Given the description of an element on the screen output the (x, y) to click on. 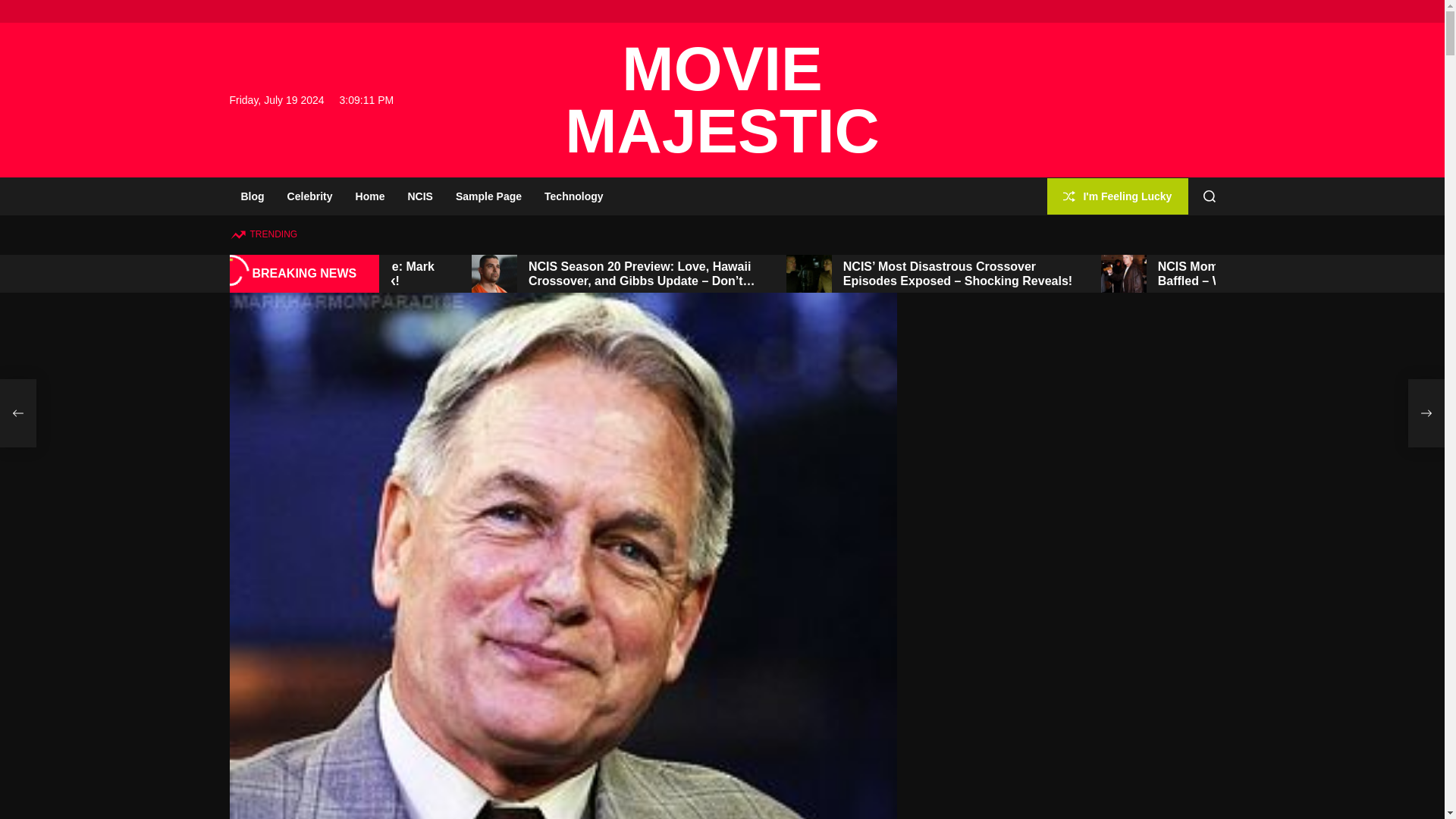
Technology (573, 196)
Search (1209, 196)
NCIS (420, 196)
Blog (251, 196)
Sample Page (488, 196)
I'm Feeling Lucky (1117, 196)
Celebrity (309, 196)
Home (369, 196)
MOVIE MAJESTIC (722, 99)
